Given the description of an element on the screen output the (x, y) to click on. 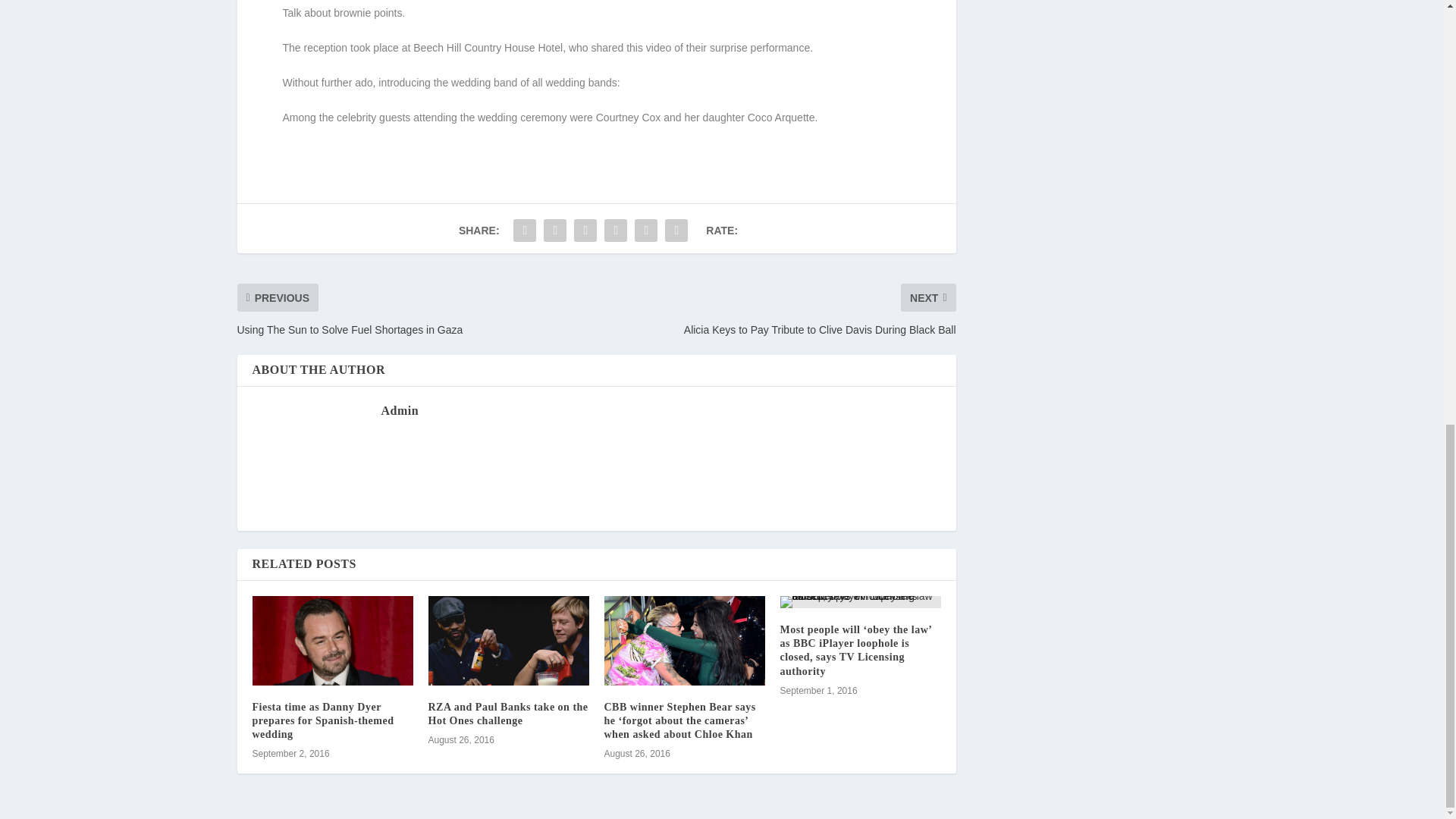
View all posts by Admin (399, 410)
RZA and Paul Banks take on the Hot Ones challenge (508, 713)
Admin (399, 410)
RZA and Paul Banks take on the Hot Ones challenge (508, 640)
